Given the description of an element on the screen output the (x, y) to click on. 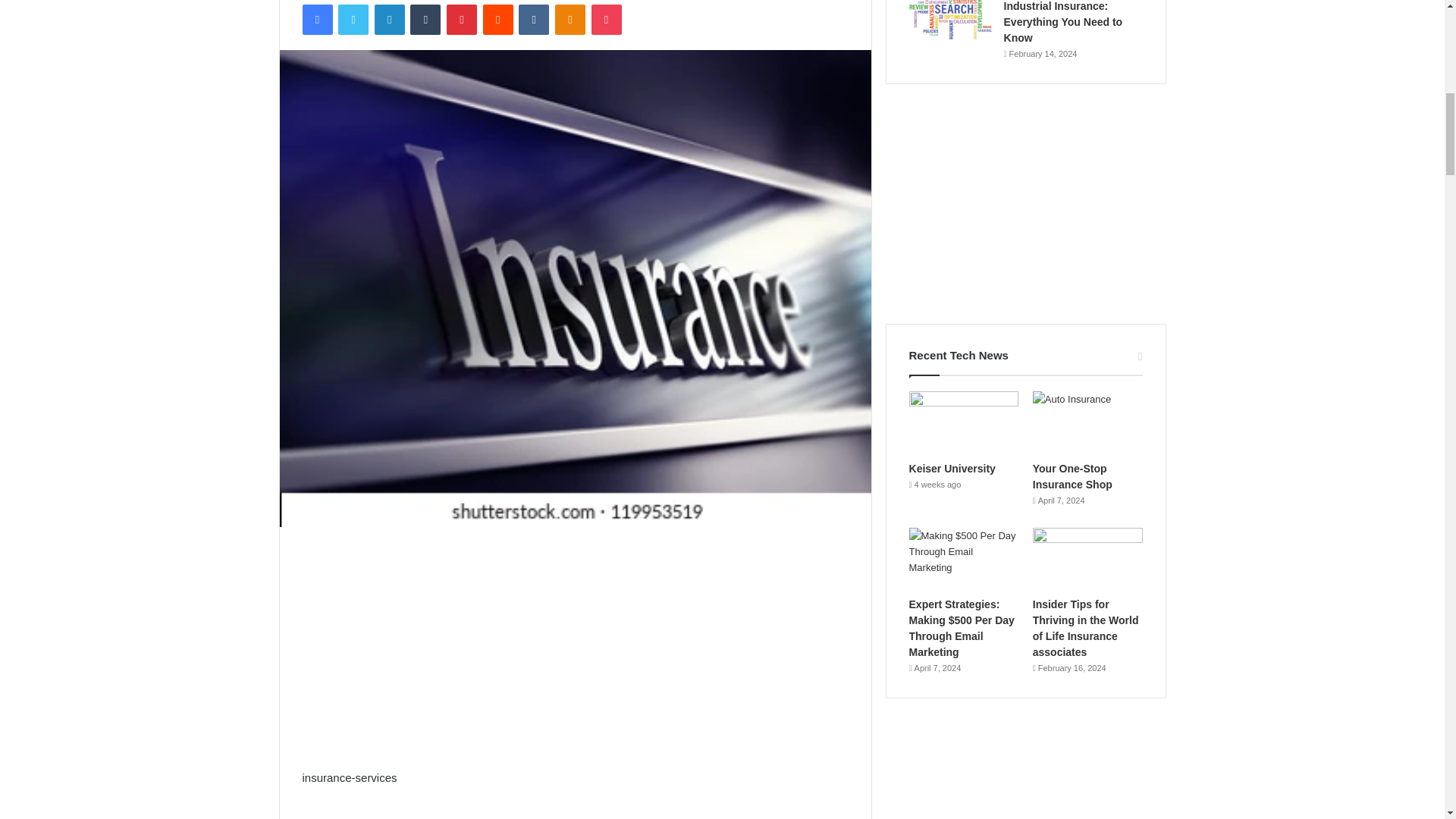
Reddit (498, 19)
VKontakte (533, 19)
Twitter (352, 19)
Pocket (606, 19)
Tumblr (425, 19)
Pinterest (461, 19)
Facebook (316, 19)
Odnoklassniki (569, 19)
LinkedIn (389, 19)
